Given the description of an element on the screen output the (x, y) to click on. 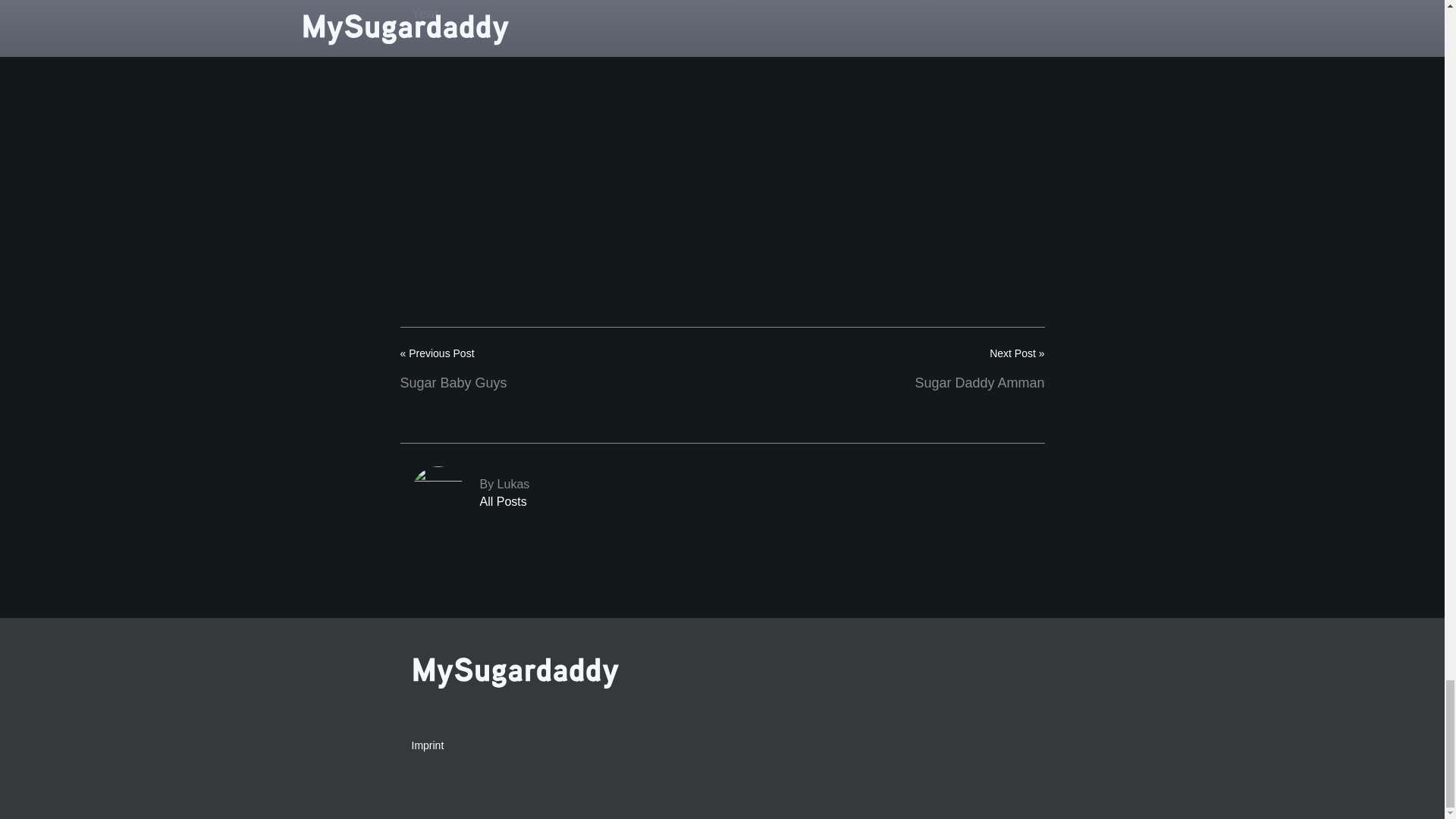
Lukas (721, 492)
Imprint (721, 492)
